Given the description of an element on the screen output the (x, y) to click on. 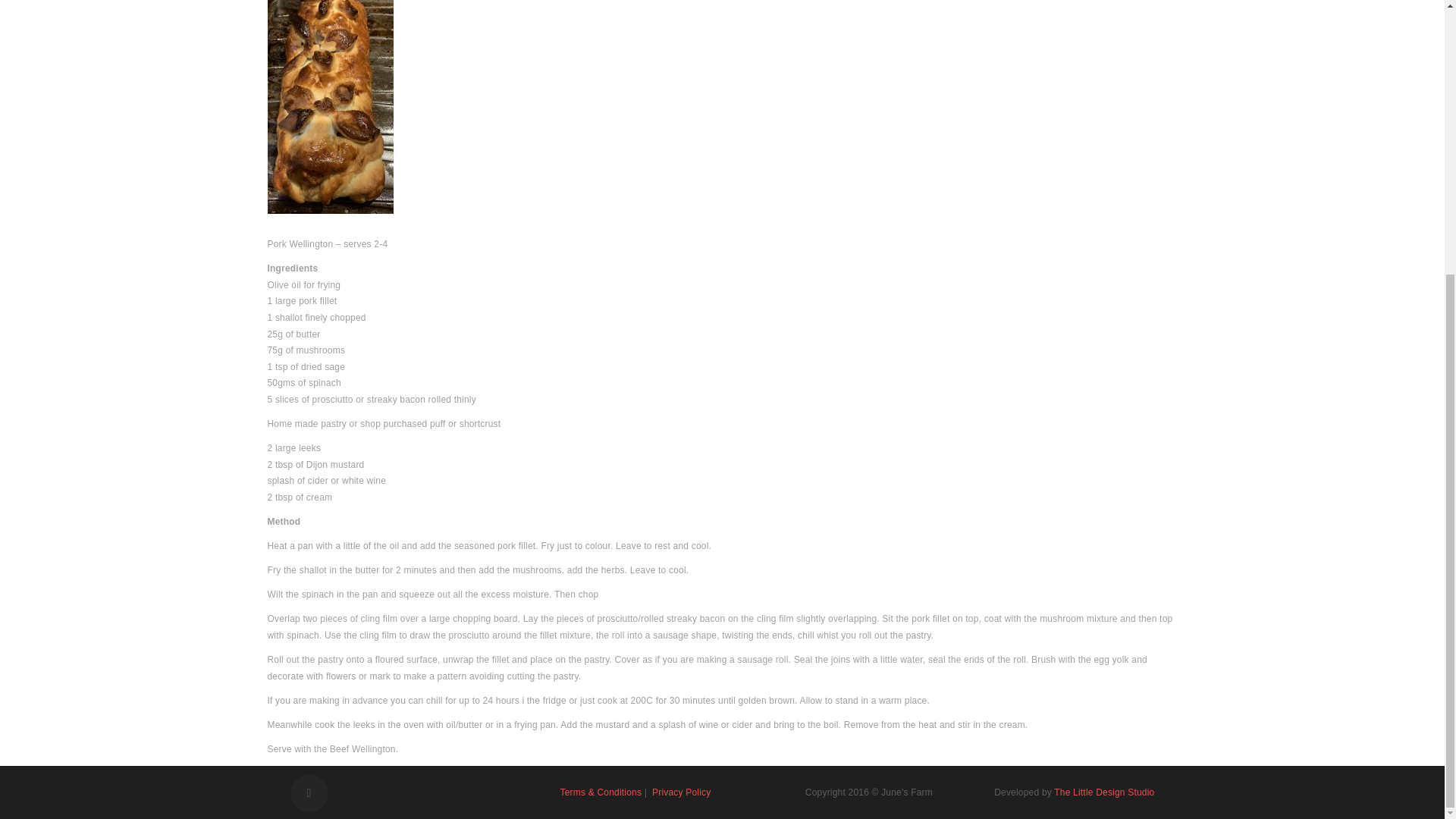
Privacy Policy (681, 792)
fb (308, 792)
The Little Design Studio (1104, 792)
